Given the description of an element on the screen output the (x, y) to click on. 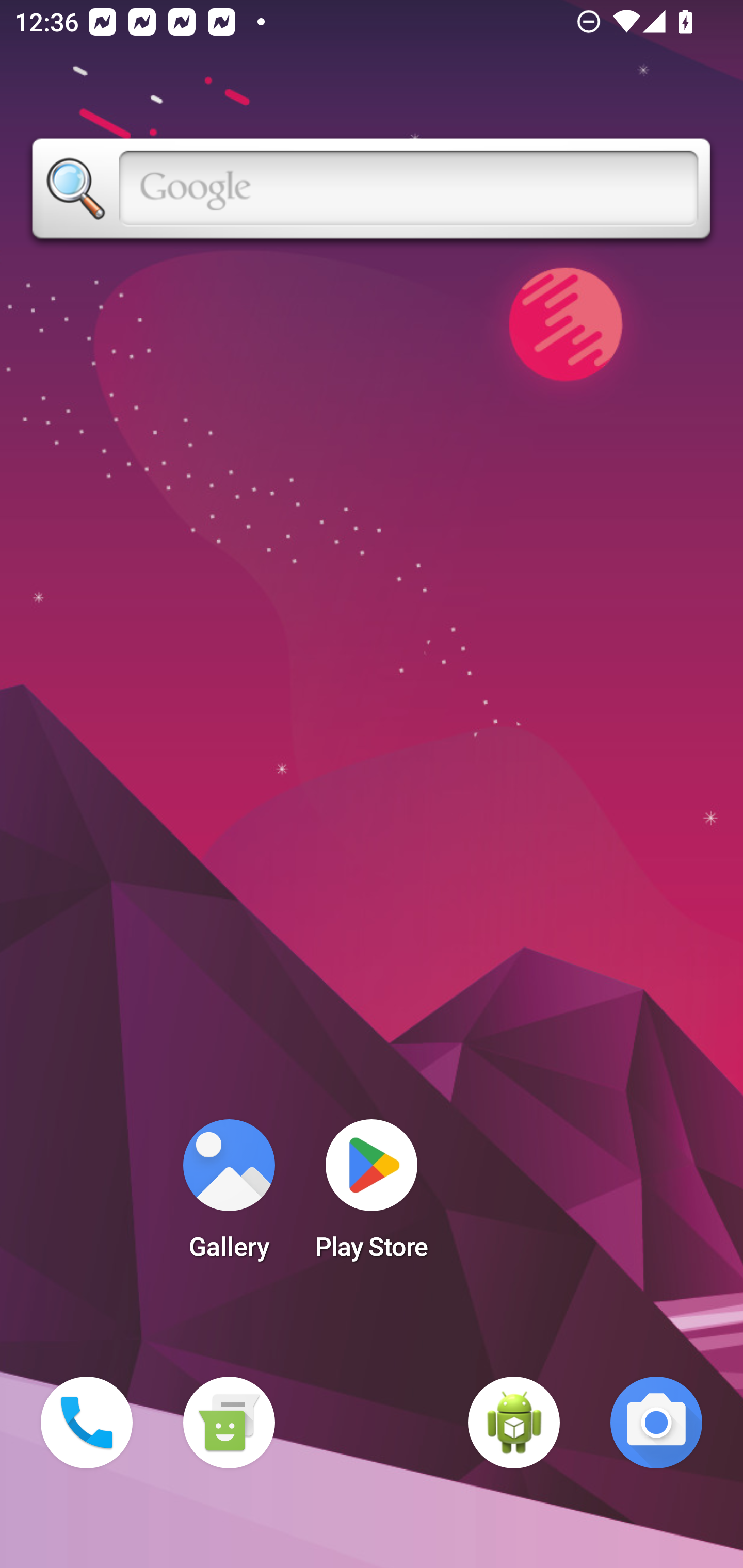
Gallery (228, 1195)
Play Store (371, 1195)
Phone (86, 1422)
Messaging (228, 1422)
WebView Browser Tester (513, 1422)
Camera (656, 1422)
